Given the description of an element on the screen output the (x, y) to click on. 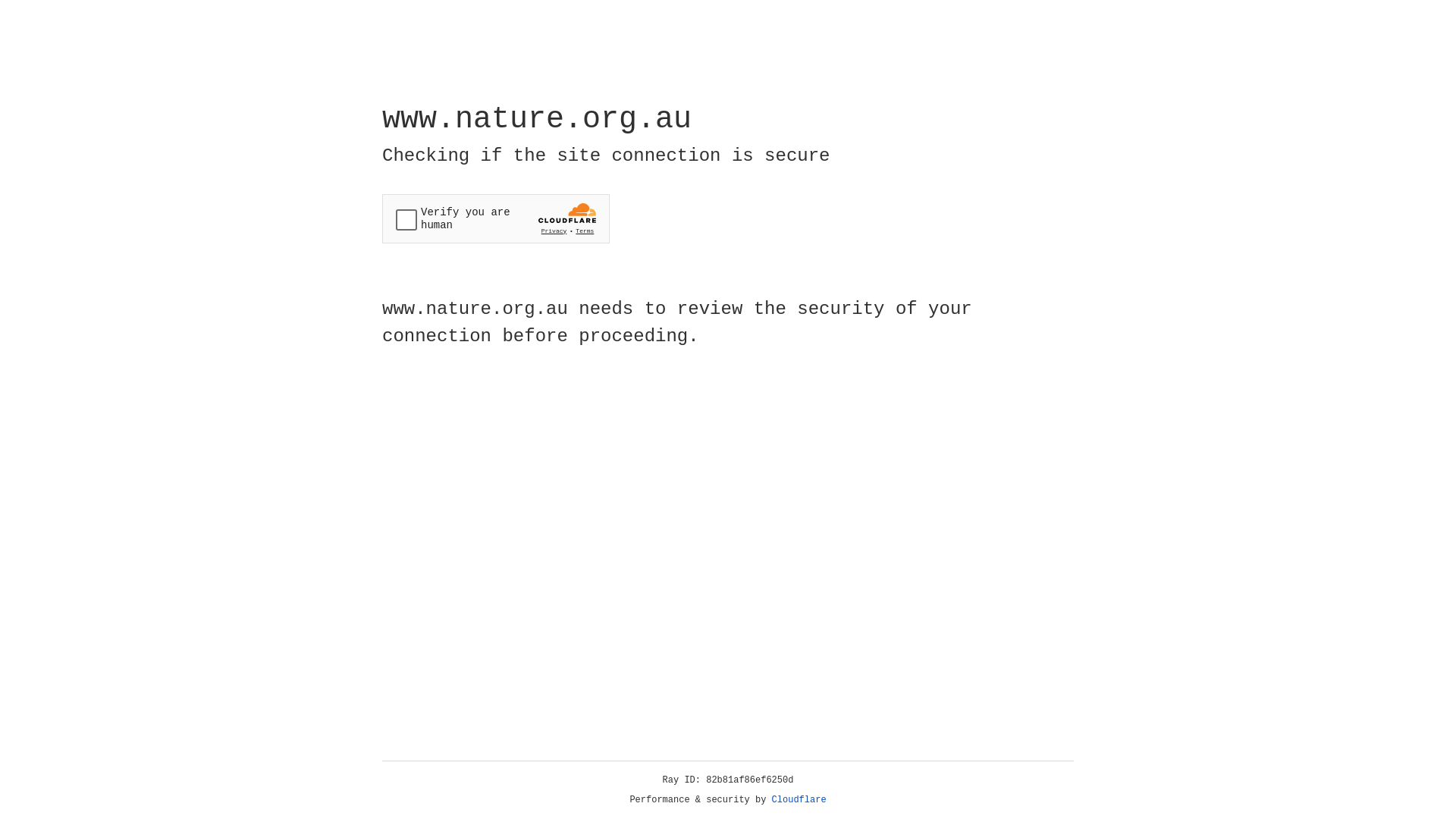
Widget containing a Cloudflare security challenge Element type: hover (495, 218)
Cloudflare Element type: text (798, 799)
